Given the description of an element on the screen output the (x, y) to click on. 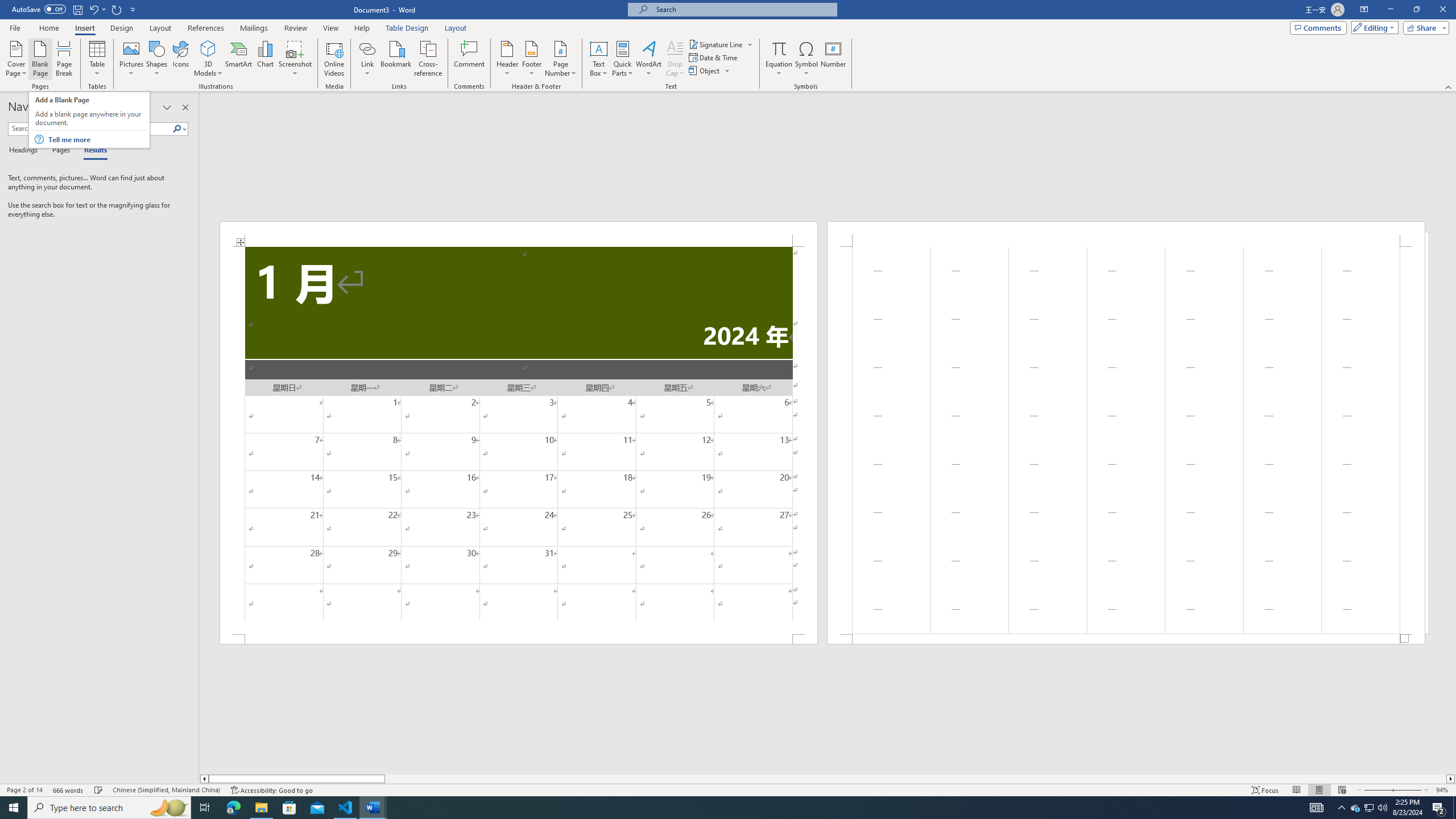
3D Models (208, 48)
Bookmark... (396, 58)
Word Count 666 words (68, 790)
Page 1 content (518, 439)
